Given the description of an element on the screen output the (x, y) to click on. 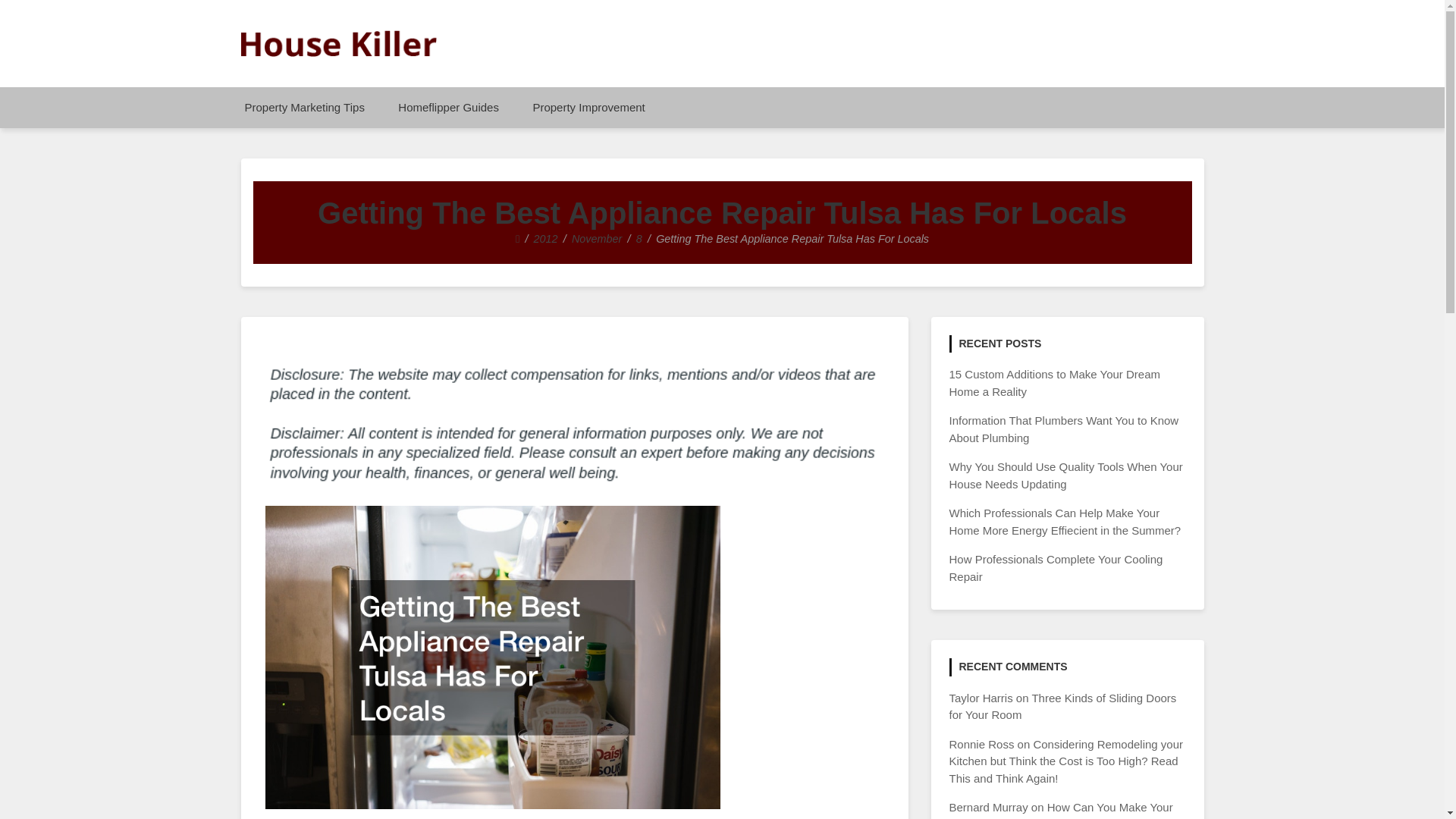
15 Custom Additions to Make Your Dream Home a Reality (1054, 382)
Information That Plumbers Want You to Know About Plumbing (1064, 429)
House Killer (322, 71)
Property Marketing Tips (303, 106)
Property Improvement (587, 106)
Three Kinds of Sliding Doors for Your Room (1062, 706)
How Professionals Complete Your Cooling Repair (1056, 567)
Taylor Harris (981, 697)
November (596, 238)
Homeflipper Guides (447, 106)
2012 (545, 238)
